Given the description of an element on the screen output the (x, y) to click on. 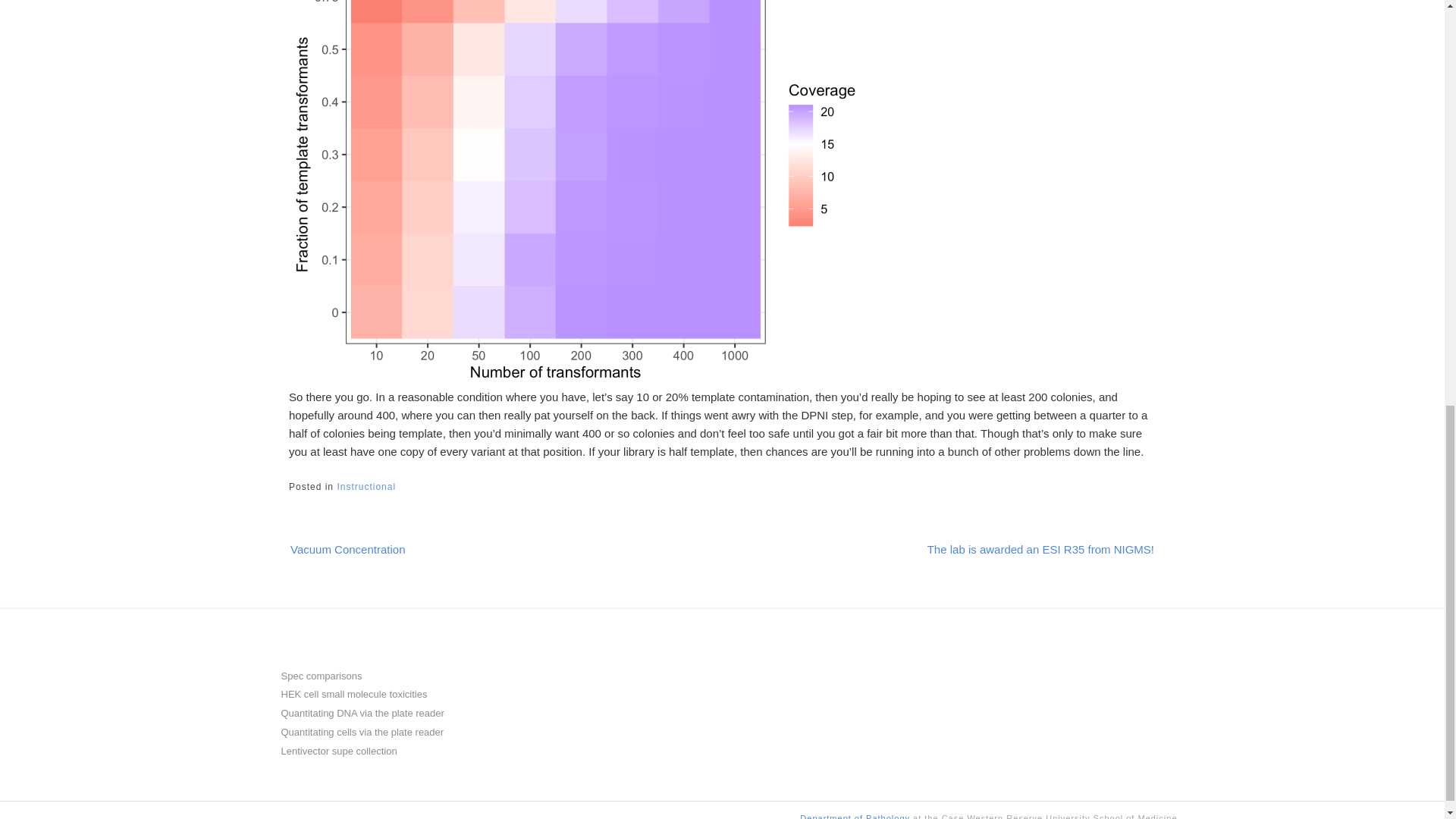
Quantitating cells via the plate reader (362, 731)
Quantitating DNA via the plate reader (362, 713)
HEK cell small molecule toxicities (353, 694)
The lab is awarded an ESI R35 from NIGMS! (1026, 547)
Instructional (366, 486)
Department of Pathology (854, 816)
Spec comparisons (321, 675)
Vacuum Concentration (361, 547)
Lentivector supe collection (338, 750)
